Given the description of an element on the screen output the (x, y) to click on. 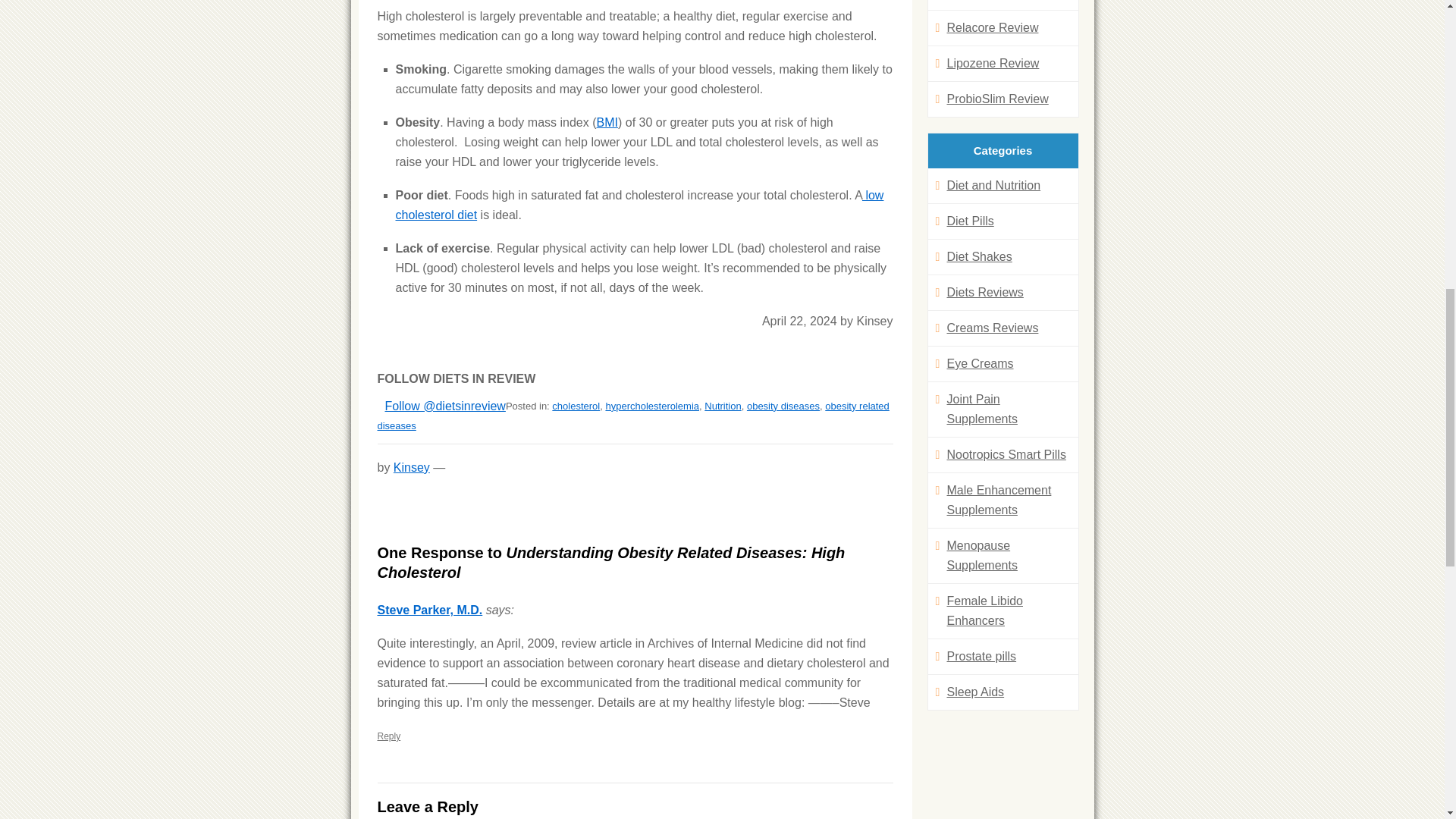
bmi (606, 122)
Low Cholesterol Diet (639, 205)
